Given the description of an element on the screen output the (x, y) to click on. 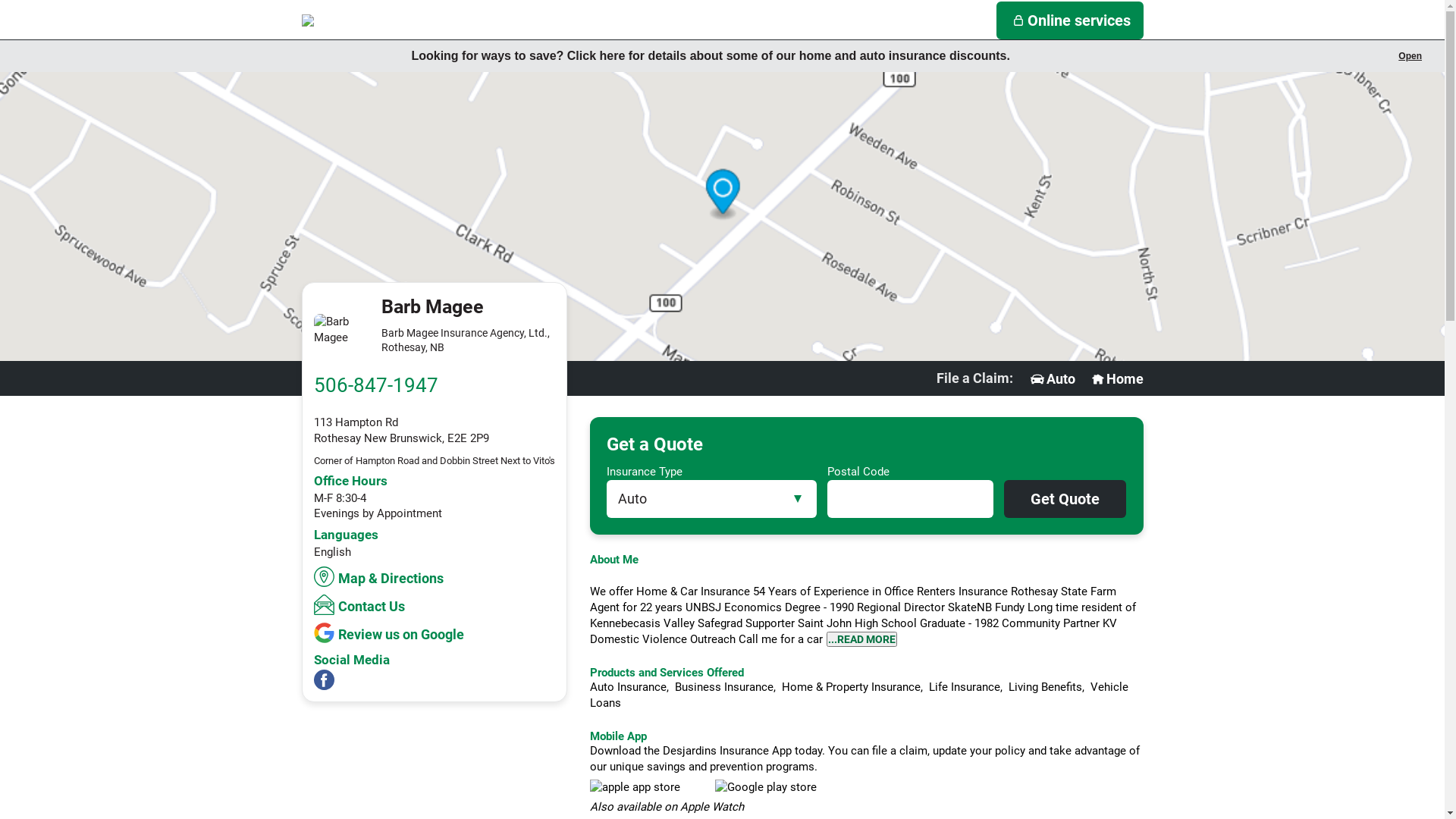
Open Element type: text (1409, 55)
Get Quote Element type: text (1065, 498)
Contact Us Element type: text (360, 604)
Map & Directions Element type: text (380, 576)
Navigate to Desjardins Insurance Element type: hover (377, 20)
Auto Element type: text (1051, 378)
Online services Element type: text (1069, 20)
Home Element type: text (1115, 378)
...READ MORE Element type: text (861, 638)
Review us on Google Element type: text (390, 632)
506-847-1947 Element type: text (375, 384)
